Given the description of an element on the screen output the (x, y) to click on. 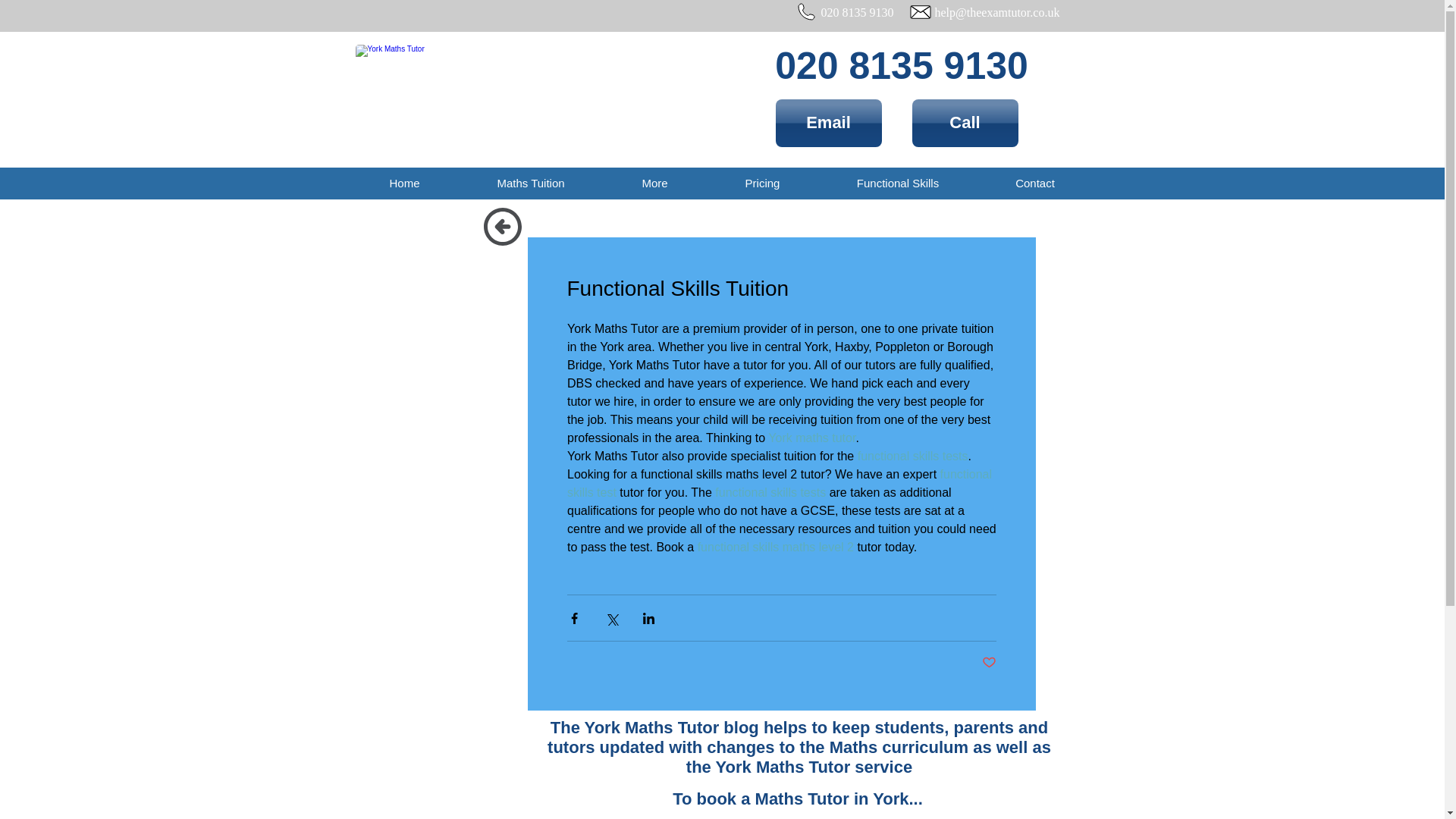
Pricing (762, 183)
020 8135 9130 (900, 65)
Call (964, 123)
Home (404, 183)
Email (827, 123)
York Maths Tutor (553, 92)
